Given the description of an element on the screen output the (x, y) to click on. 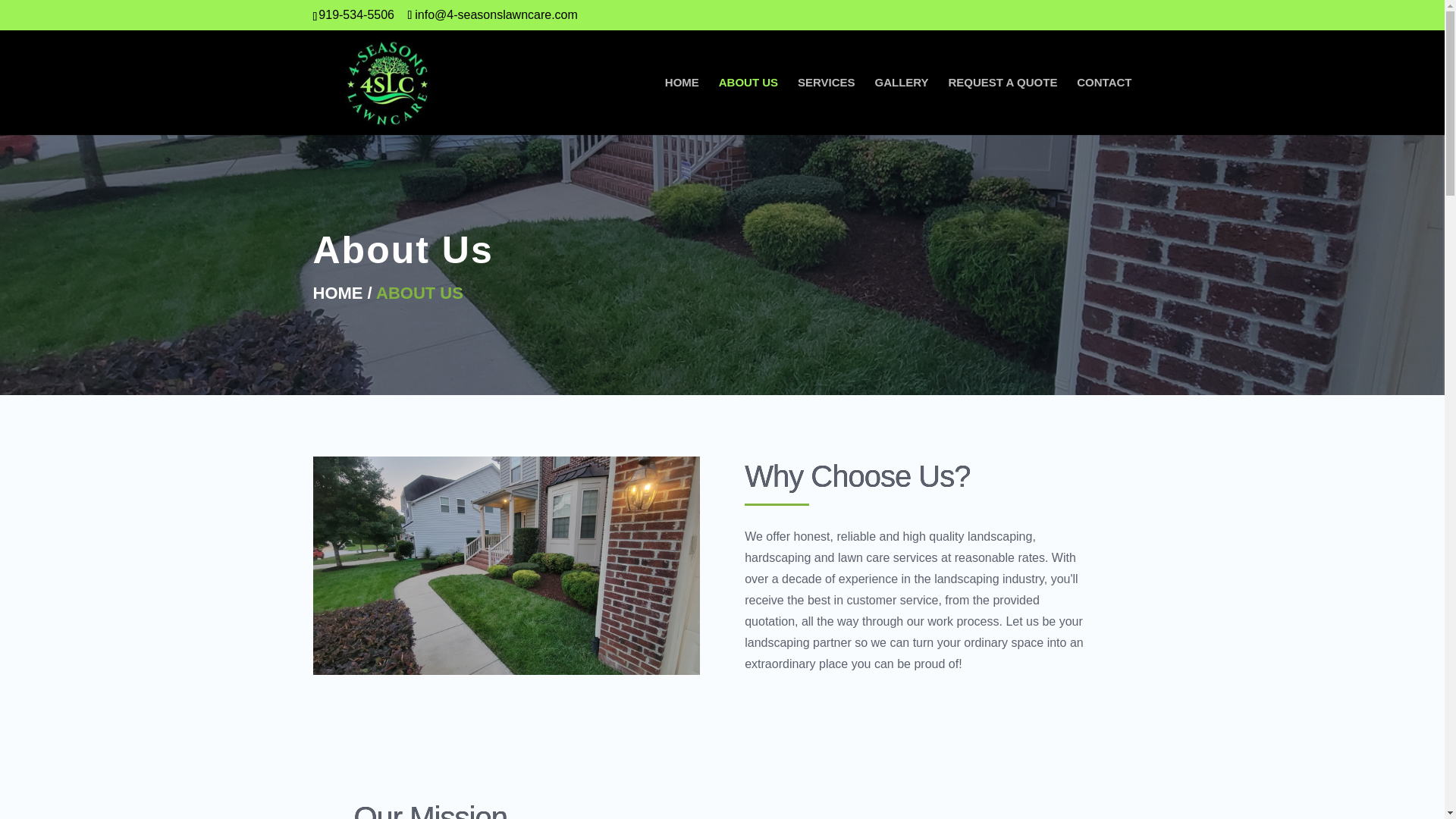
REQUEST A QUOTE (1002, 105)
CONTACT (1104, 105)
ABOUT US (748, 105)
SERVICES (826, 105)
GALLERY (901, 105)
